Given the description of an element on the screen output the (x, y) to click on. 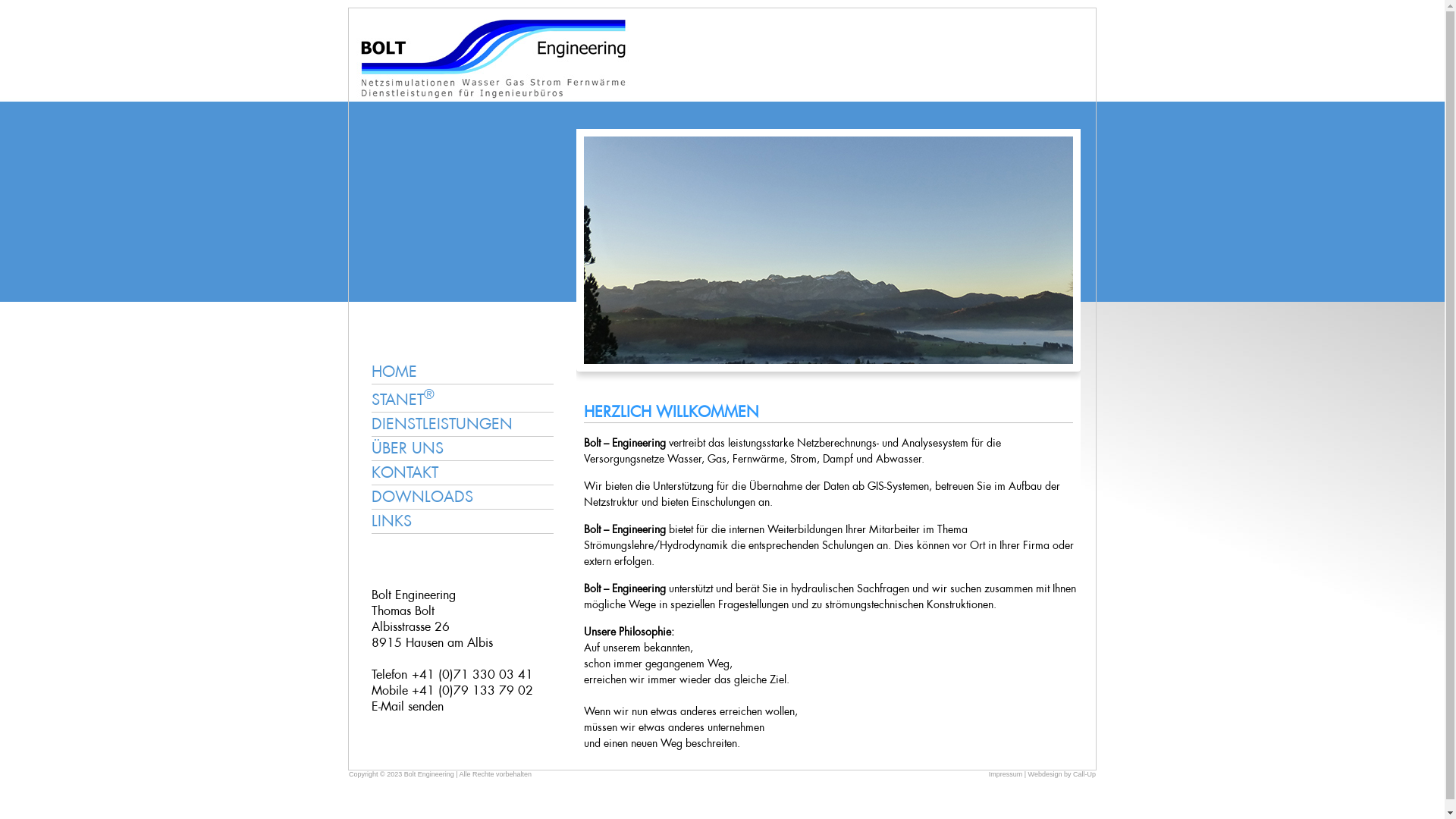
HOME Element type: hover (493, 94)
  Element type: text (355, 533)
LINKS Element type: text (462, 521)
Impressum Element type: text (1005, 774)
E-Mail senden Element type: text (407, 706)
KONTAKT Element type: text (462, 473)
DIENSTLEISTUNGEN Element type: text (462, 424)
Webdesign by Call-Up Element type: text (1061, 774)
DOWNLOADS Element type: text (462, 497)
